Given the description of an element on the screen output the (x, y) to click on. 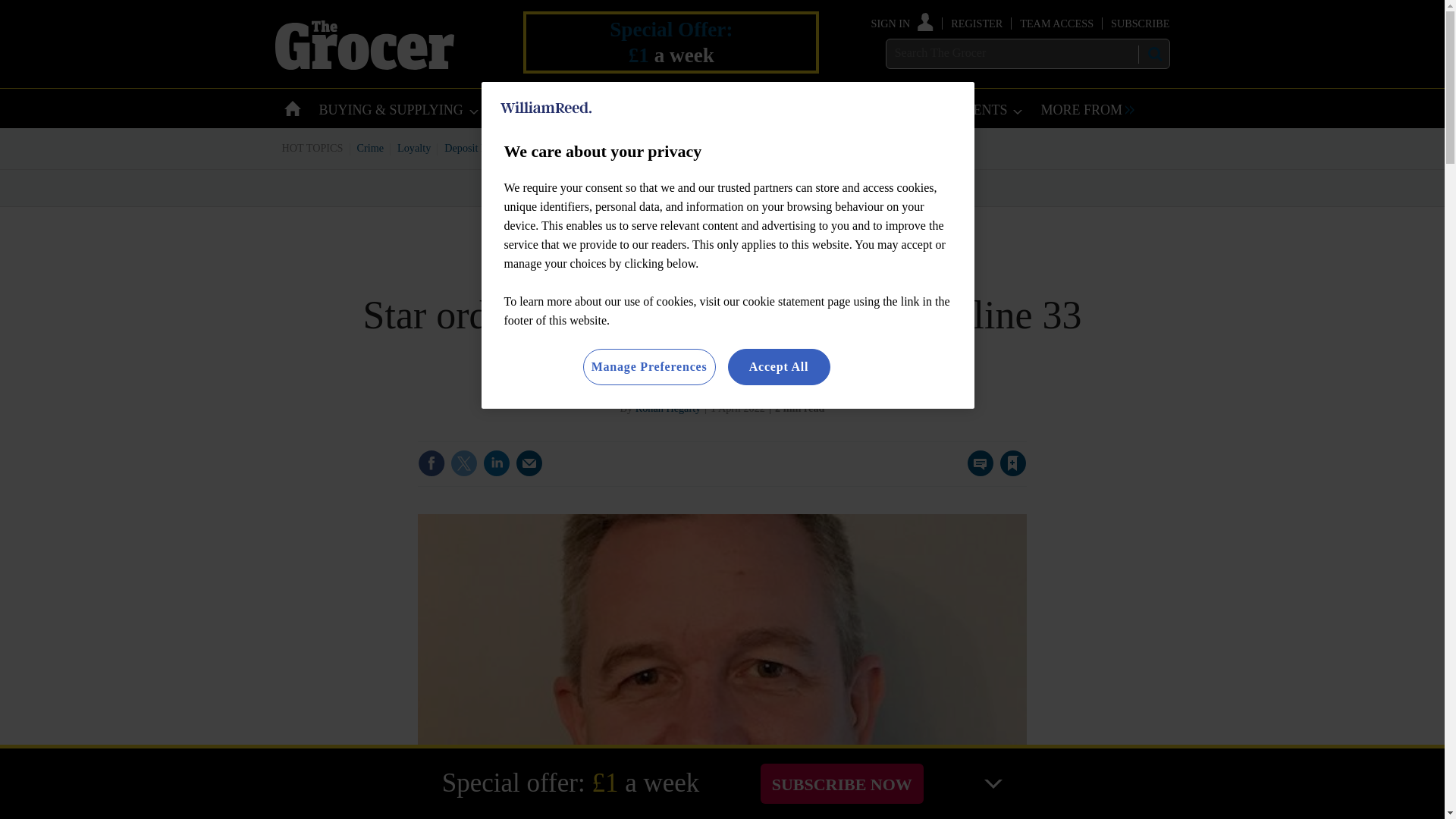
SUBSCRIBE (1139, 23)
Vaping (774, 147)
SEARCH (1153, 53)
TEAM ACCESS (1056, 23)
Share this on Twitter (463, 462)
KVI price tracker (602, 147)
No comments (976, 472)
William Reed (545, 107)
Share this on Facebook (431, 462)
Cost of Living Crisis (699, 147)
